Given the description of an element on the screen output the (x, y) to click on. 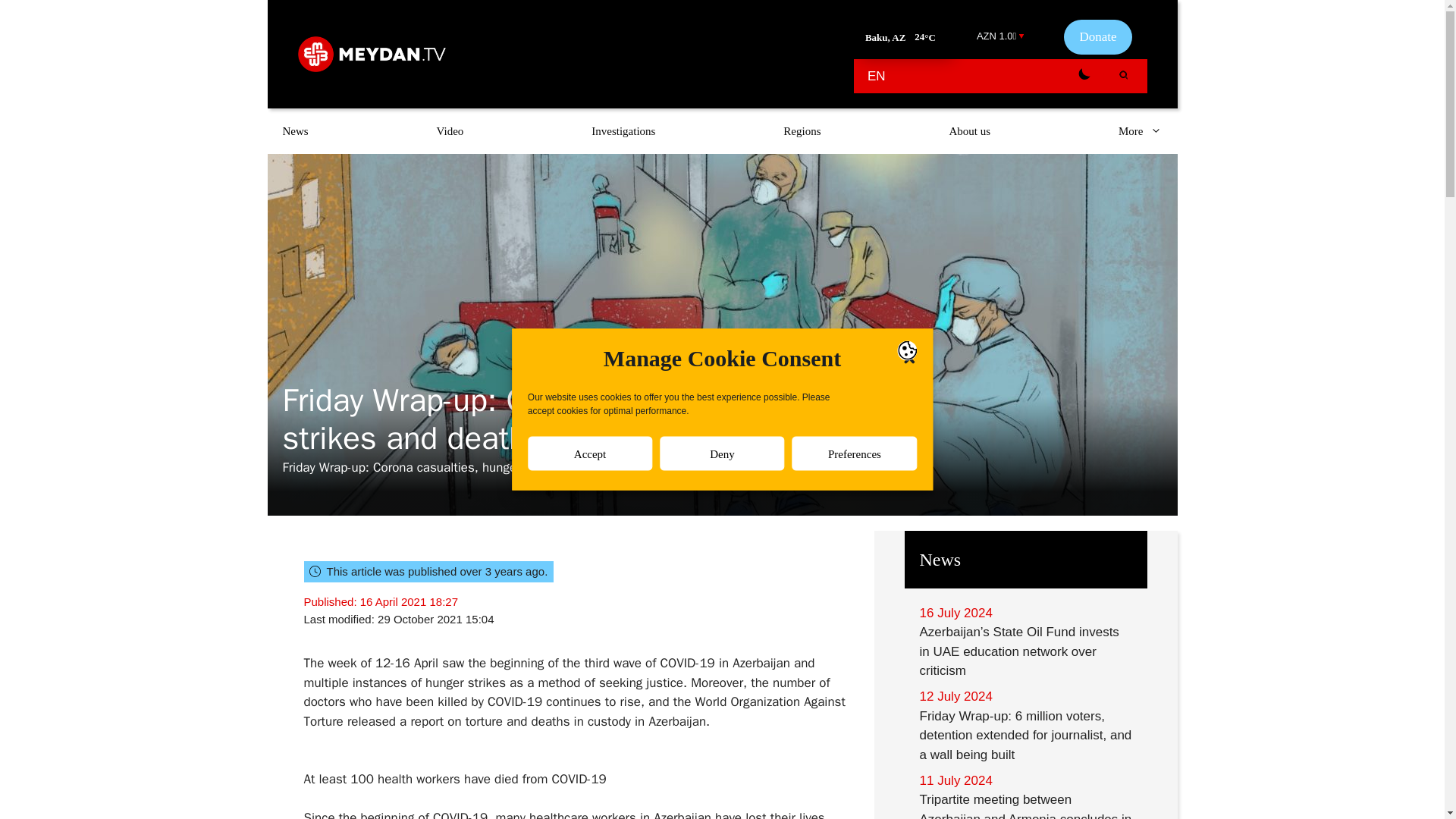
EN (876, 75)
Donate (1097, 36)
Video (450, 130)
Preferences (854, 761)
News (294, 130)
Deny (721, 798)
Accept (589, 809)
